Given the description of an element on the screen output the (x, y) to click on. 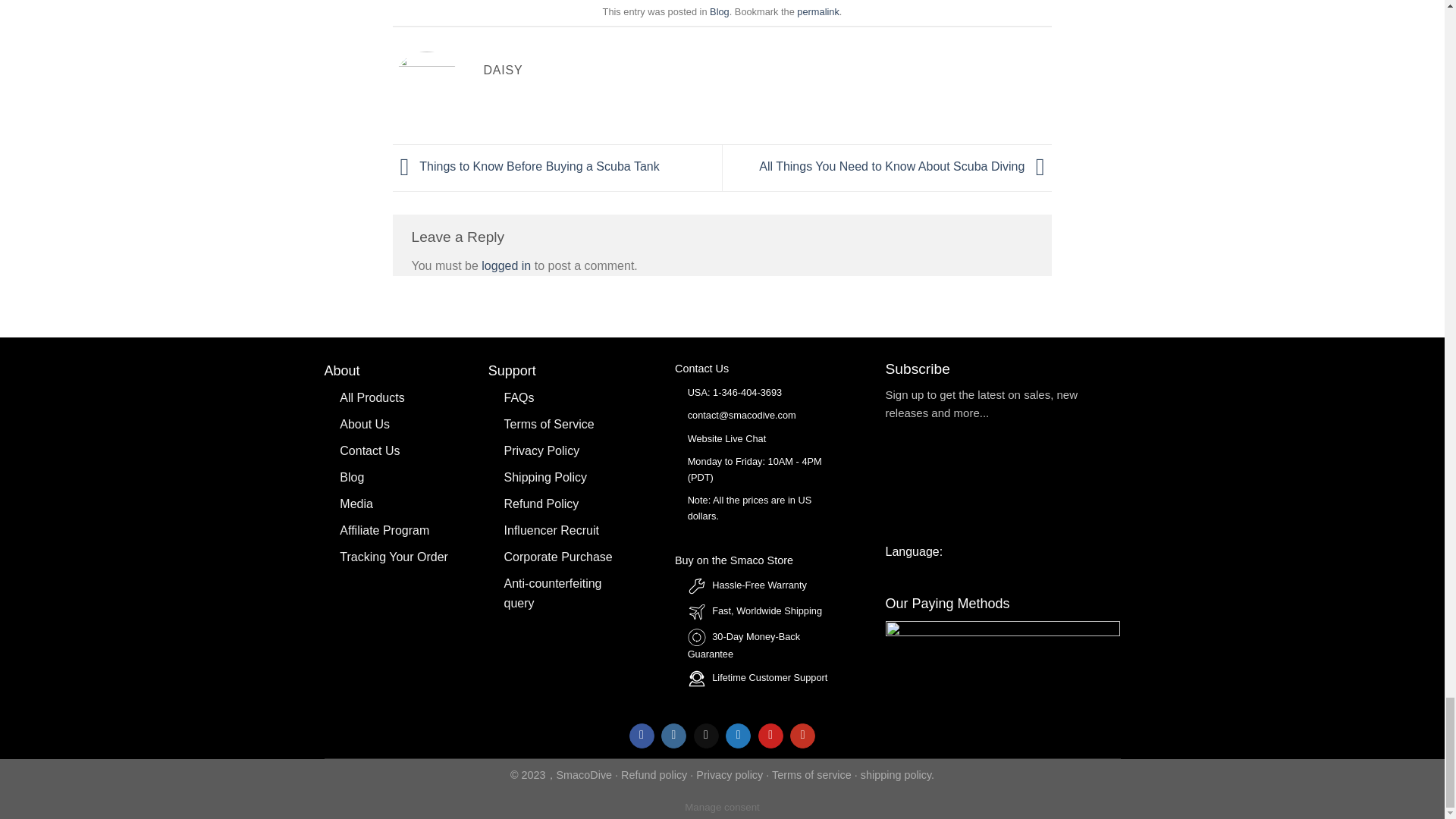
Follow on Pinterest (770, 736)
Follow on Twitter (738, 736)
Follow on Facebook (640, 736)
Follow on TikTok (706, 736)
Follow on YouTube (802, 736)
Permalink to Tips to Avoid Seasickness While Scuba Diving (817, 11)
Follow on Instagram (673, 736)
